Given the description of an element on the screen output the (x, y) to click on. 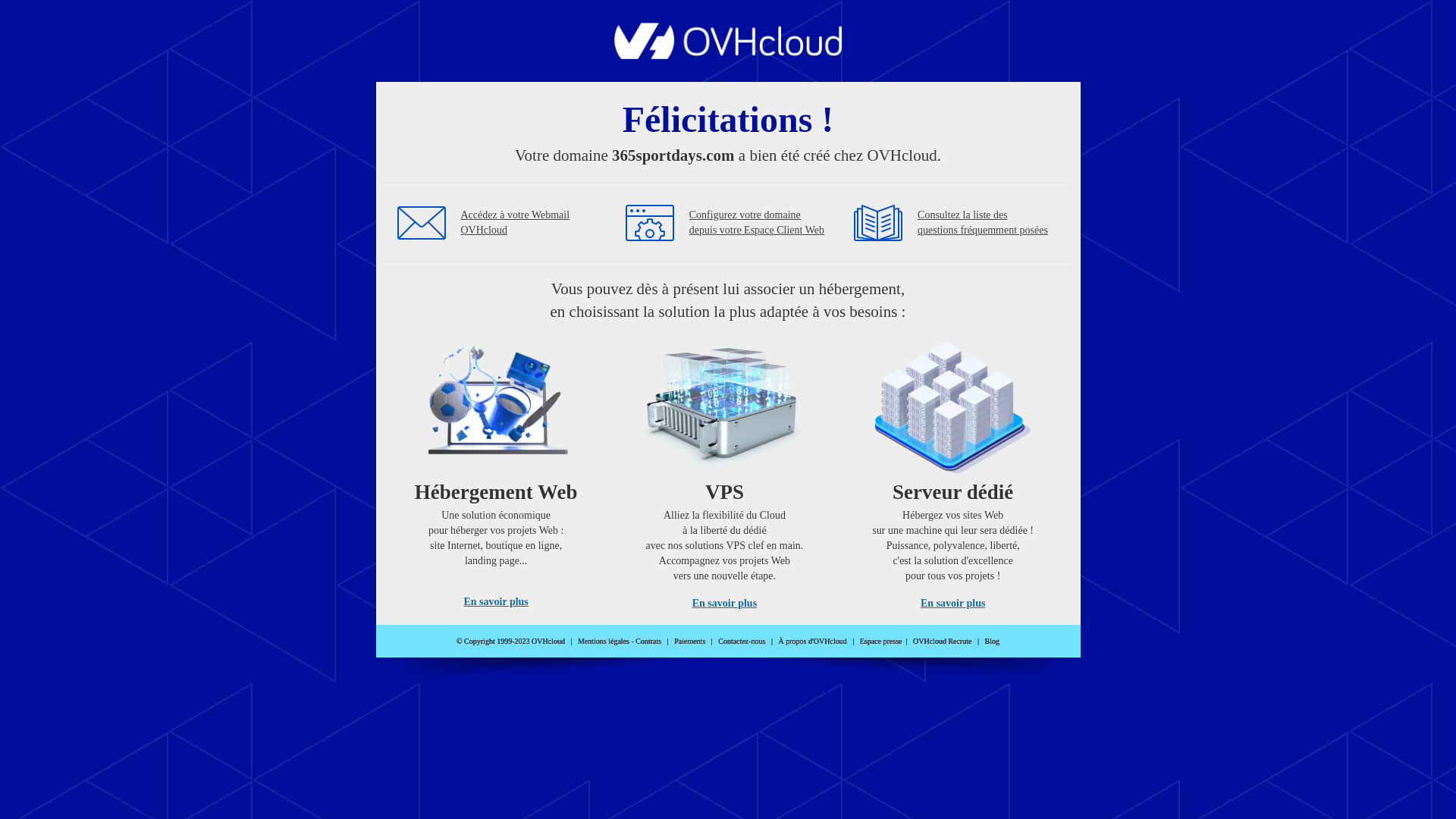
OVHcloud Element type: hover (727, 54)
OVHcloud Recrute Element type: text (942, 641)
Contactez-nous Element type: text (741, 641)
VPS Element type: hover (724, 469)
Configurez votre domaine
depuis votre Espace Client Web Element type: text (756, 222)
Espace presse Element type: text (880, 641)
En savoir plus Element type: text (724, 602)
Blog Element type: text (992, 641)
Paiements Element type: text (689, 641)
En savoir plus Element type: text (952, 602)
En savoir plus Element type: text (495, 601)
